Given the description of an element on the screen output the (x, y) to click on. 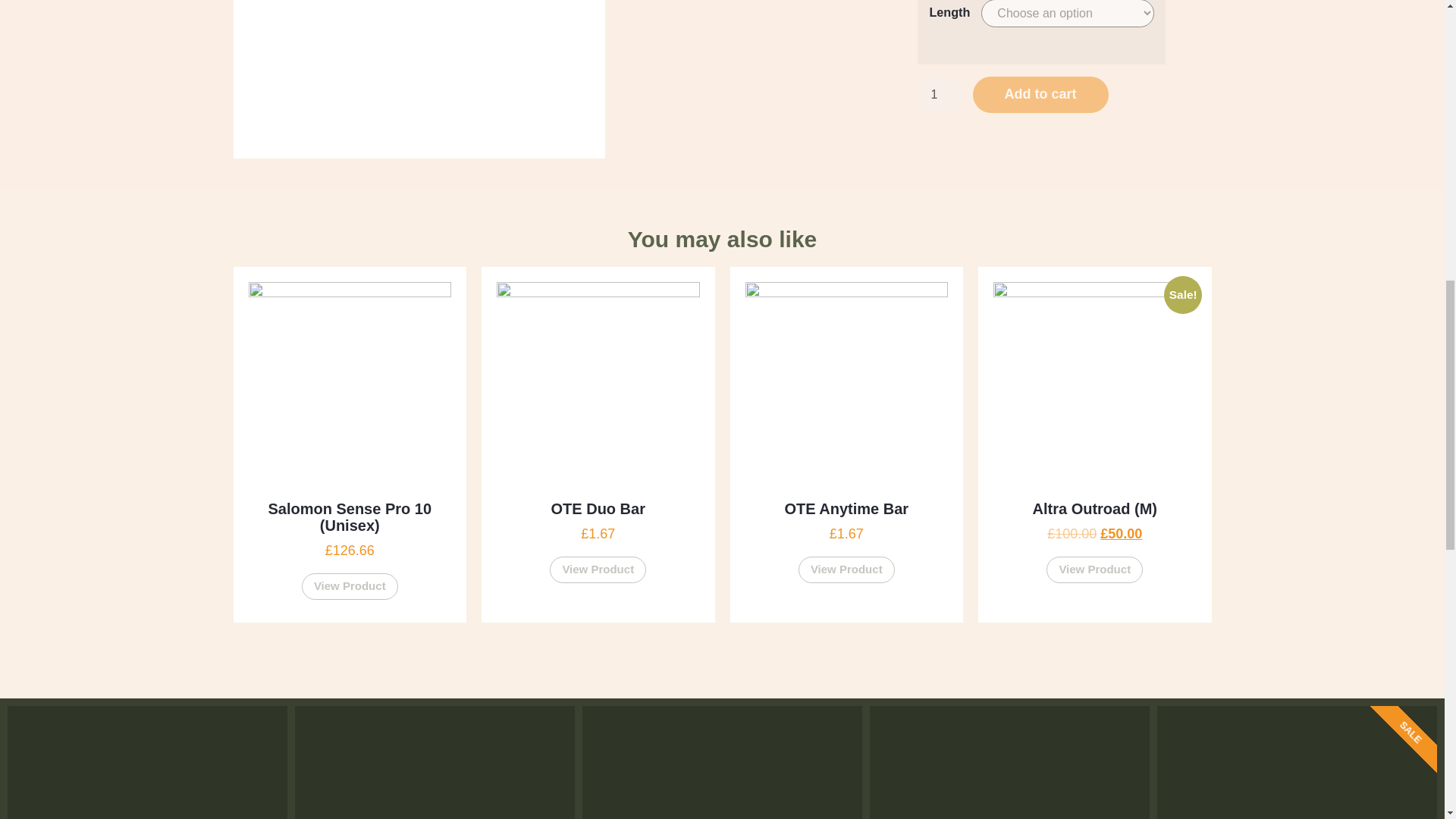
1 (938, 94)
